Given the description of an element on the screen output the (x, y) to click on. 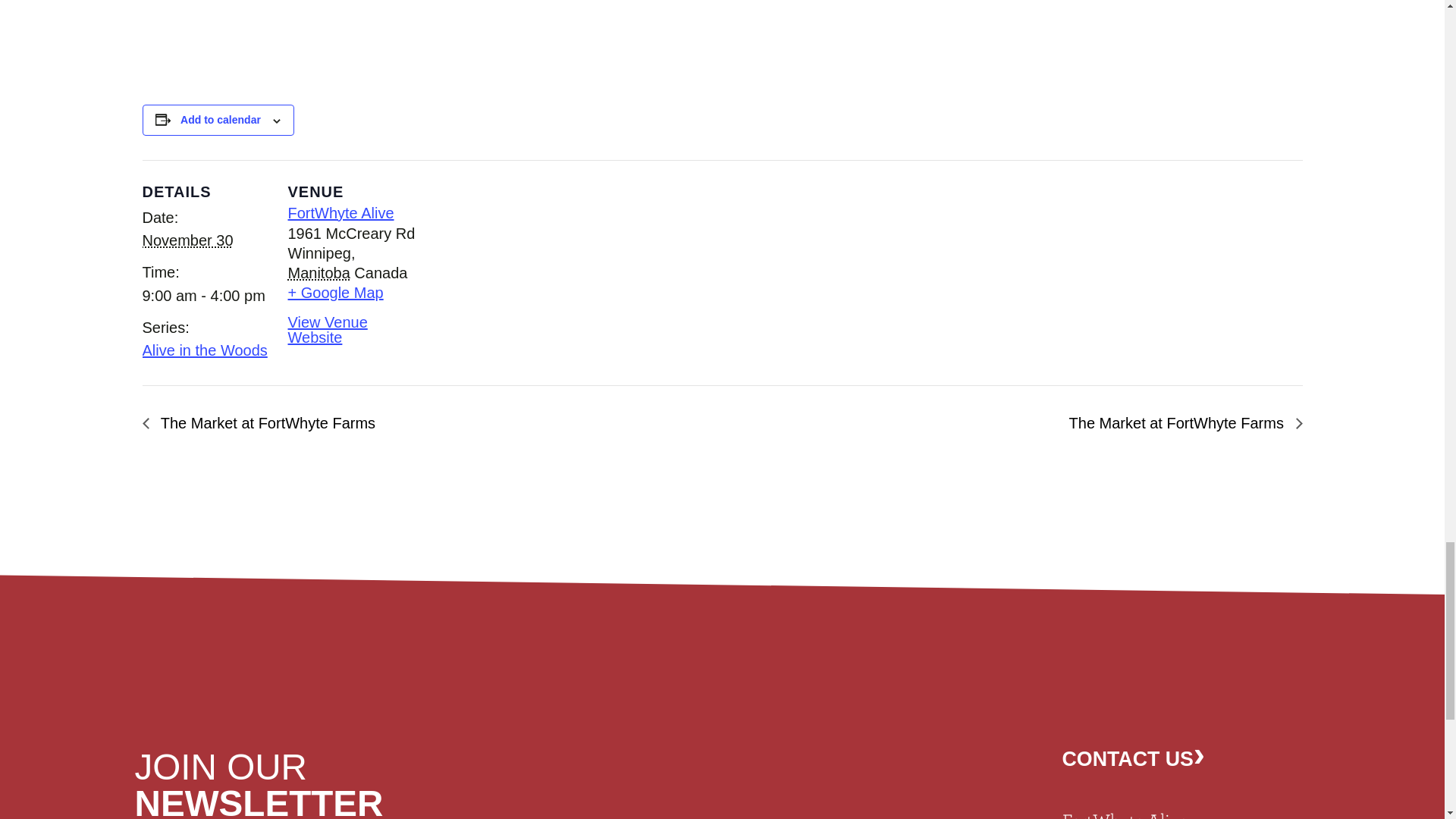
Manitoba (319, 272)
Alive in the Woods (204, 350)
2024-11-30 (187, 239)
Click to view a Google Map (336, 292)
2024-11-30 (205, 295)
Google maps iframe displaying the address to FortWhyte Alive (513, 263)
